Given the description of an element on the screen output the (x, y) to click on. 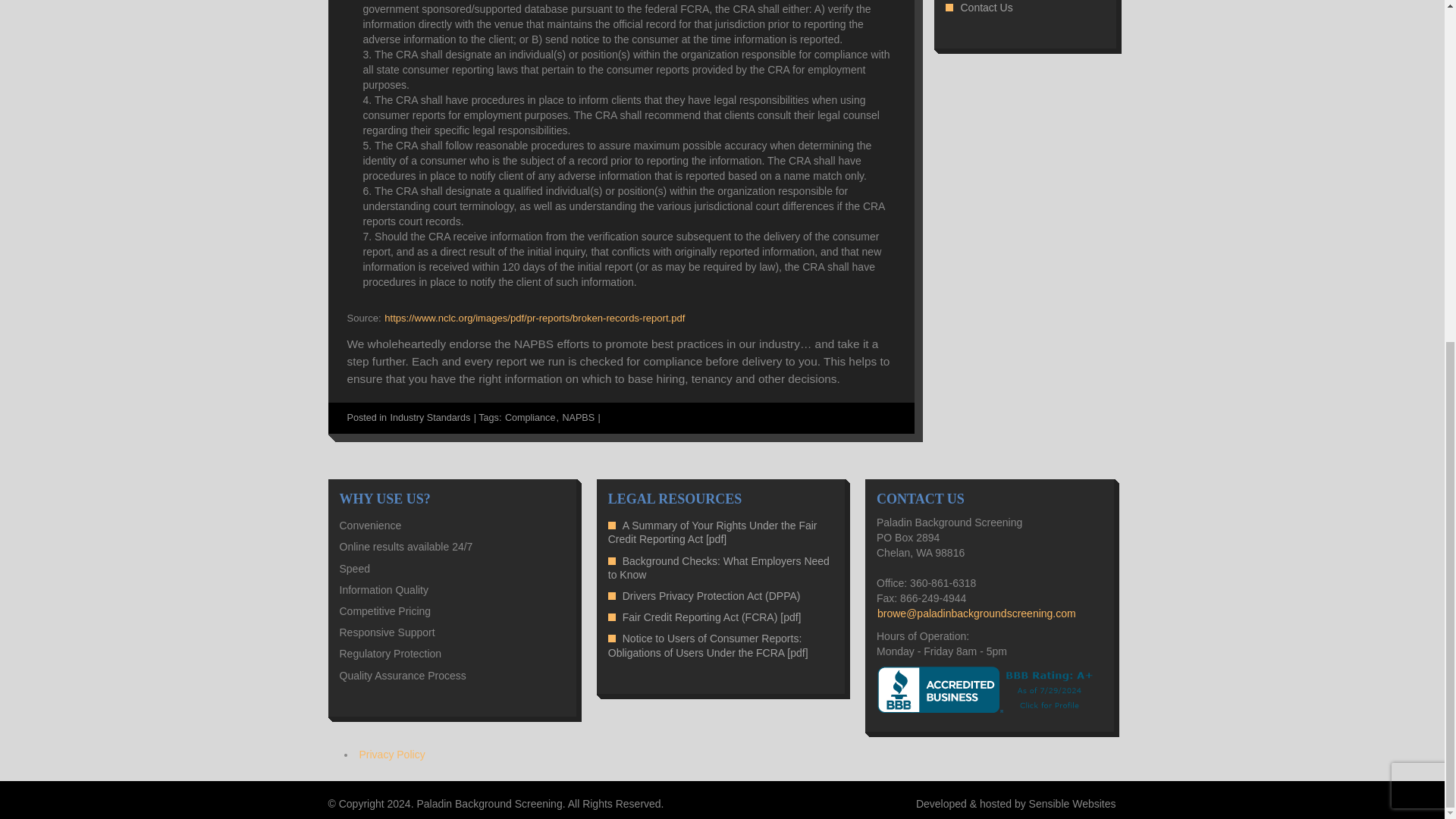
Industry Standards (430, 417)
Privacy Policy (392, 754)
Contact Us (985, 7)
Background Checks: What Employers Need to Know (718, 567)
NAPBS (578, 417)
Compliance (530, 417)
